Given the description of an element on the screen output the (x, y) to click on. 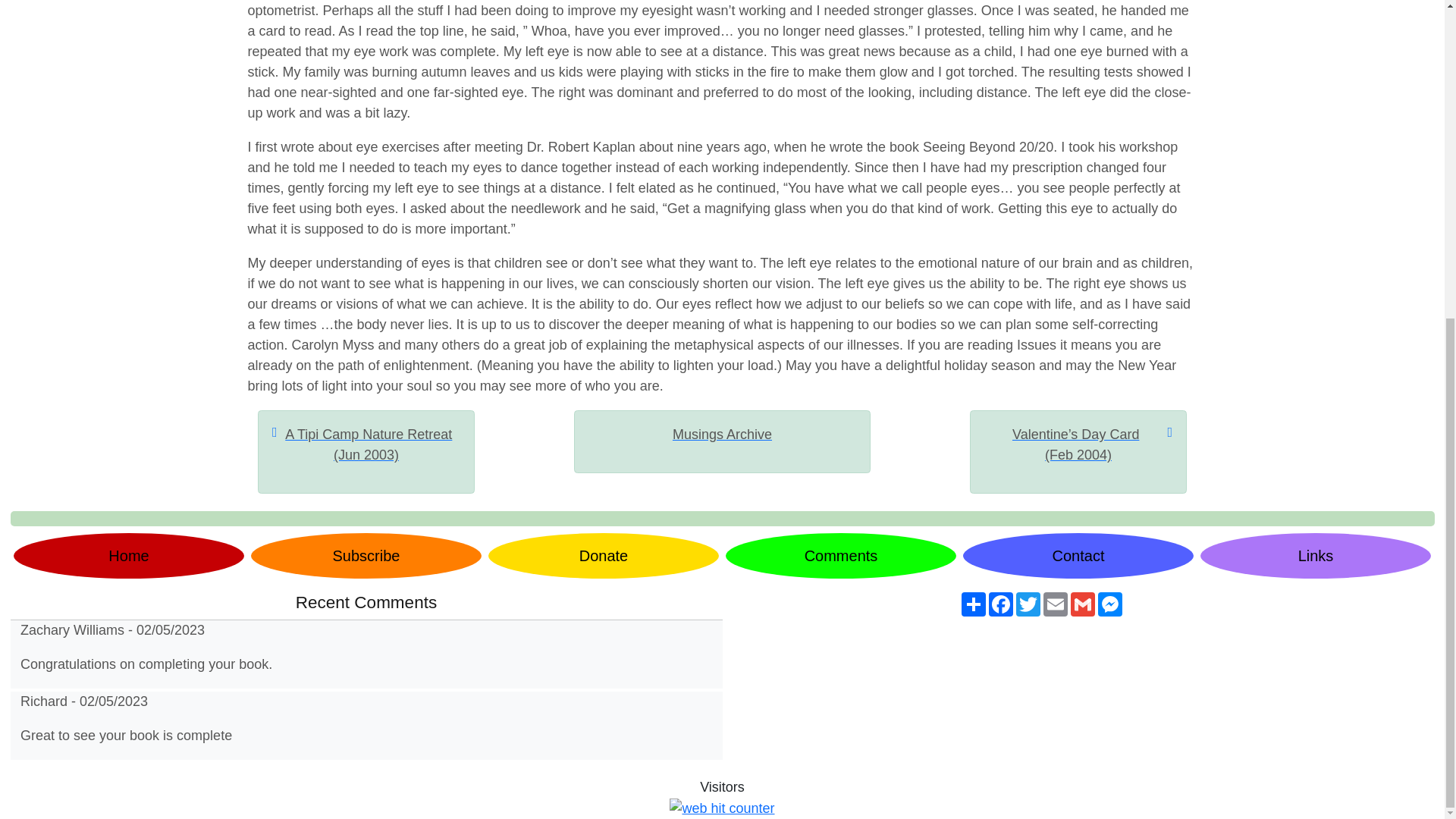
Email (1055, 604)
Musings Archive (722, 435)
Home (128, 555)
Links (1315, 555)
Comments (840, 555)
Twitter (1028, 604)
Contact (1077, 555)
Facebook (1000, 604)
Subscribe (365, 555)
Messenger (1110, 604)
